Given the description of an element on the screen output the (x, y) to click on. 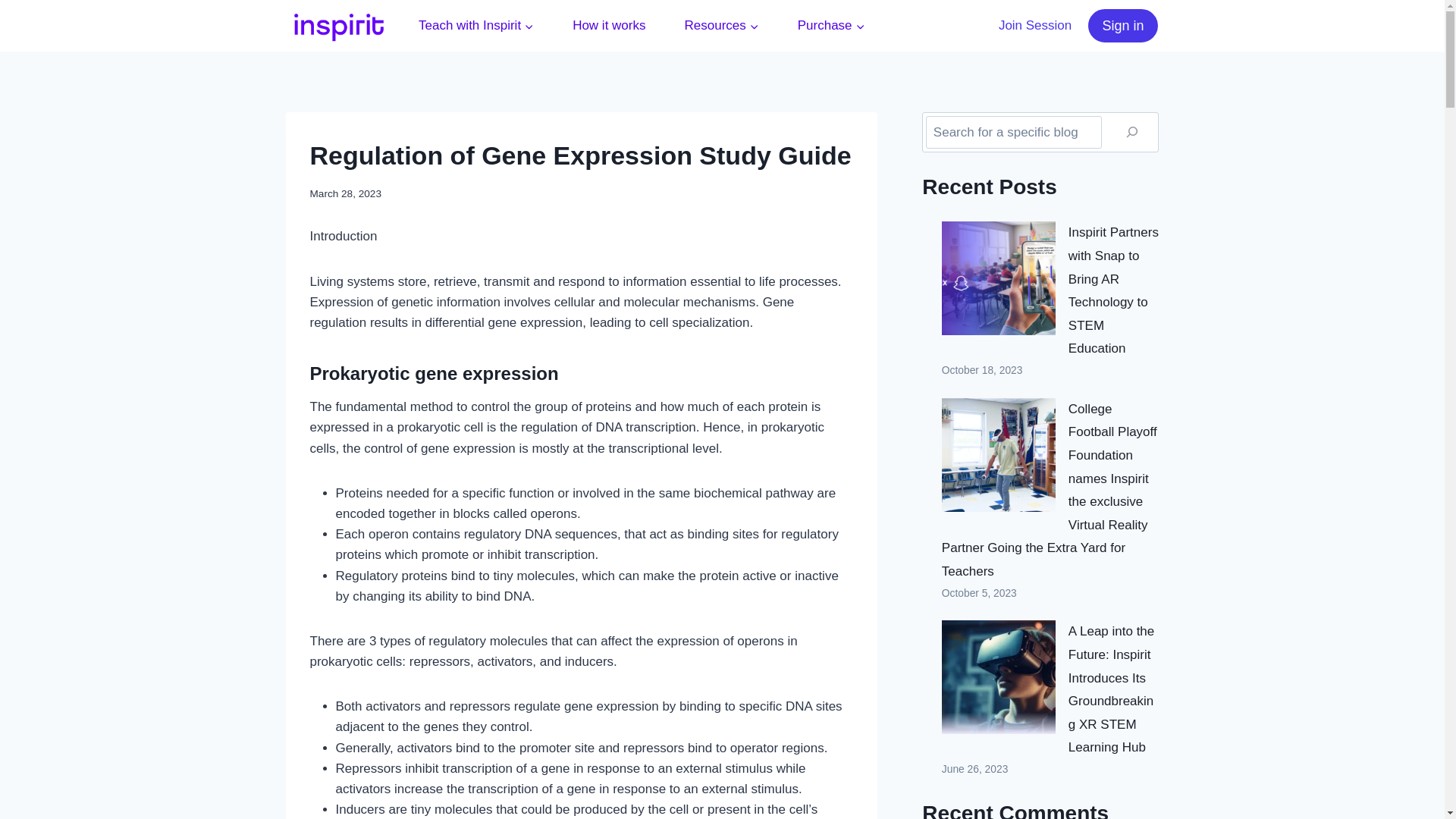
Join Session (1035, 25)
Resources (721, 25)
Teach with Inspirit (475, 25)
How it works (609, 25)
Sign in (1122, 25)
Purchase (830, 25)
